Given the description of an element on the screen output the (x, y) to click on. 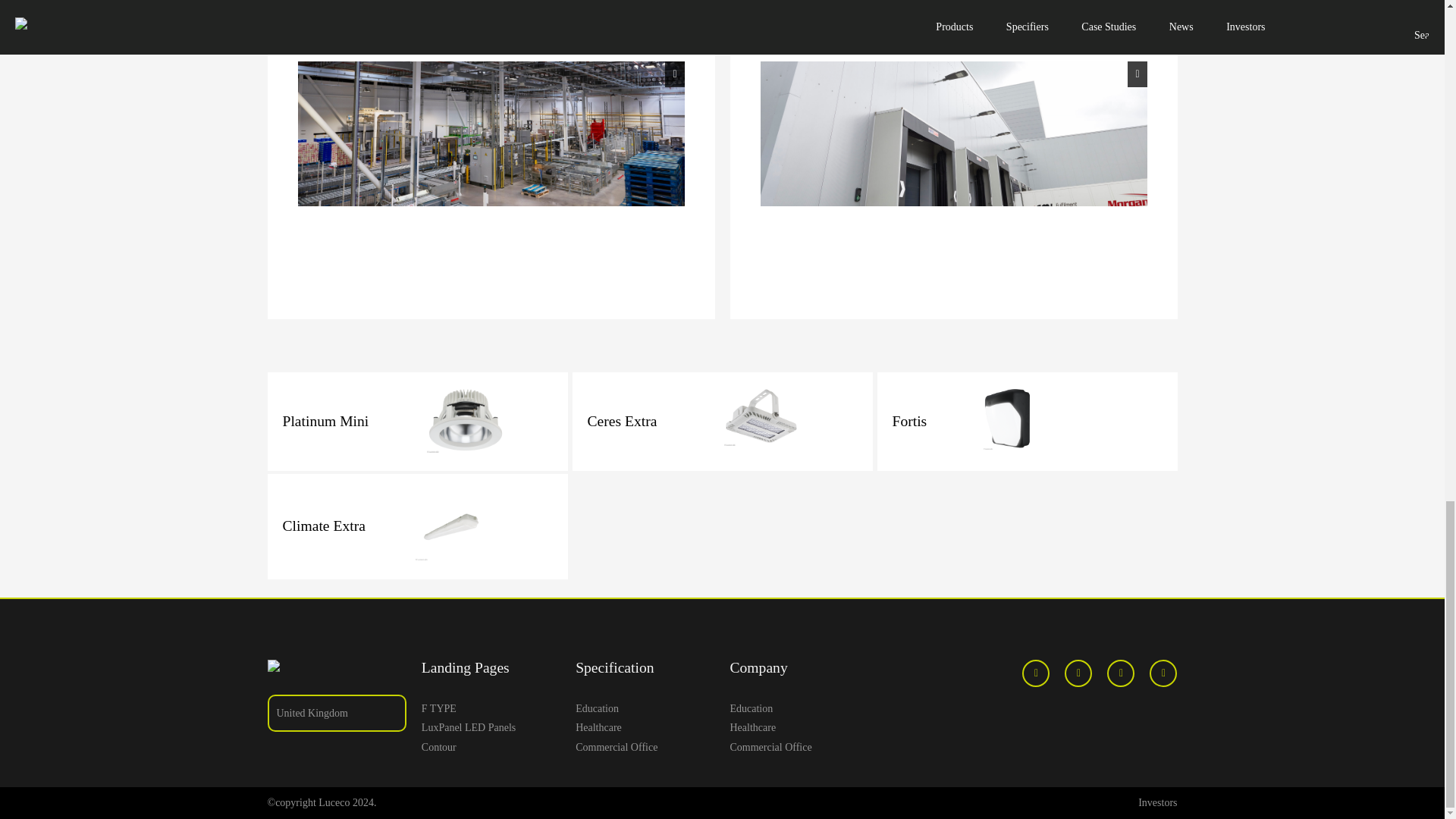
Contour (491, 746)
Fortis (961, 421)
Commercial Office (644, 746)
F TYPE (491, 708)
United Kingdom (336, 712)
Healthcare (644, 727)
Ceres Extra (692, 421)
Education (644, 708)
Commercial Office (798, 746)
Platinum Mini (392, 421)
Climate Extra (383, 526)
Investors (1157, 802)
LuxPanel LED Panels (491, 727)
Education (798, 708)
Healthcare (798, 727)
